Given the description of an element on the screen output the (x, y) to click on. 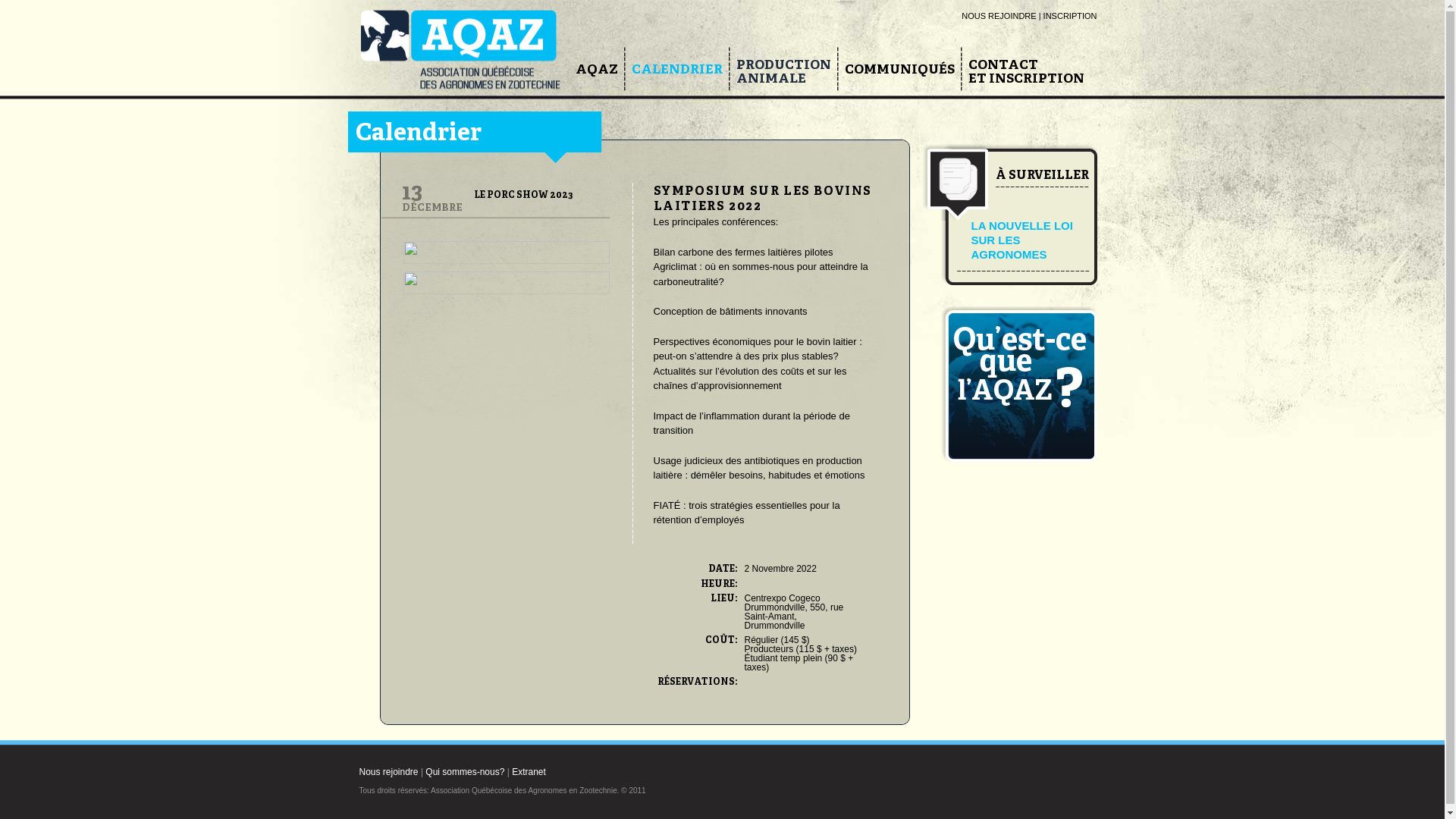
NOUS REJOINDRE | INSCRIPTION Element type: text (1028, 15)
LA NOUVELLE LOI SUR LES AGRONOMES Element type: text (1021, 239)
PRODUCTION
ANIMALE Element type: text (782, 72)
Nous rejoindre Element type: text (388, 771)
Qui sommes-nous? Element type: text (464, 771)
CONTACT
ET INSCRIPTION Element type: text (1025, 72)
AQAZ Element type: text (595, 69)
CALENDRIER Element type: text (675, 69)
Extranet Element type: text (528, 771)
